Given the description of an element on the screen output the (x, y) to click on. 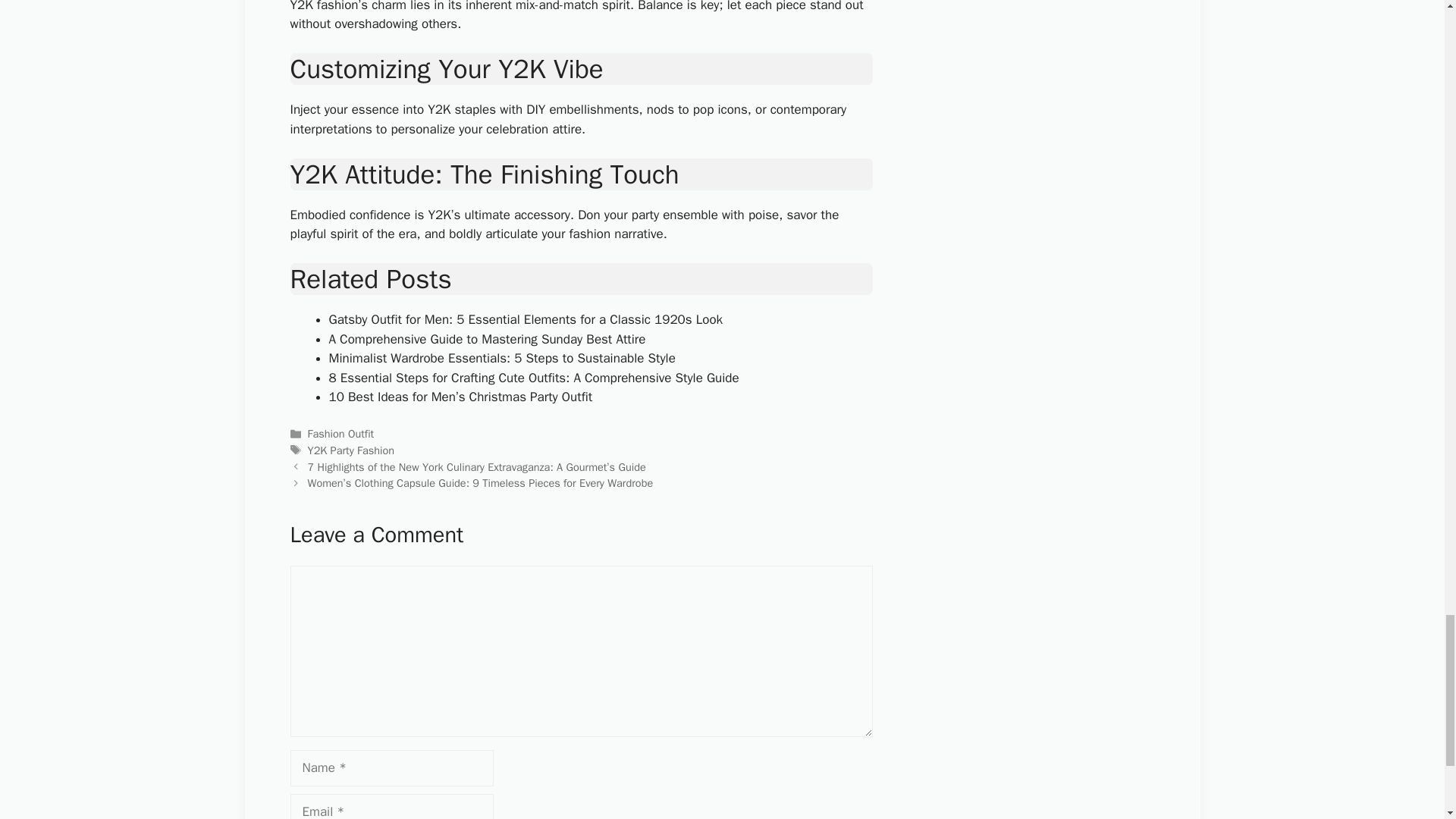
Minimalist Wardrobe Essentials: 5 Steps to Sustainable Style (502, 358)
Fashion Outfit (340, 433)
Y2K Party Fashion (350, 450)
A Comprehensive Guide to Mastering Sunday Best Attire (487, 339)
